Given the description of an element on the screen output the (x, y) to click on. 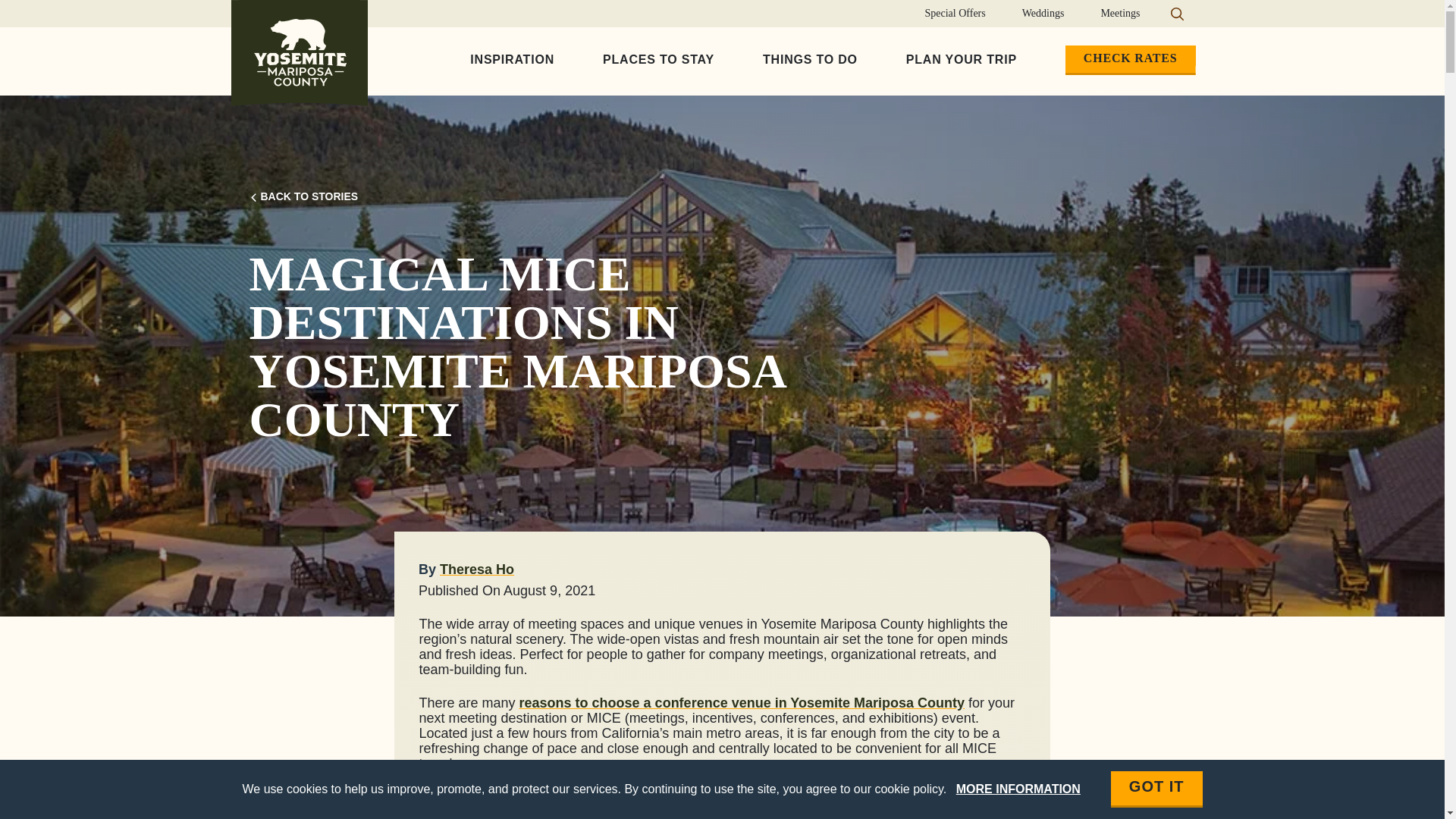
PLACES TO STAY (658, 61)
PLAN YOUR TRIP (961, 61)
Posts by Theresa Ho (476, 569)
Weddings (1043, 13)
Meetings (1119, 13)
Special Offers (955, 13)
INSPIRATION (511, 61)
THINGS TO DO (810, 61)
